Given the description of an element on the screen output the (x, y) to click on. 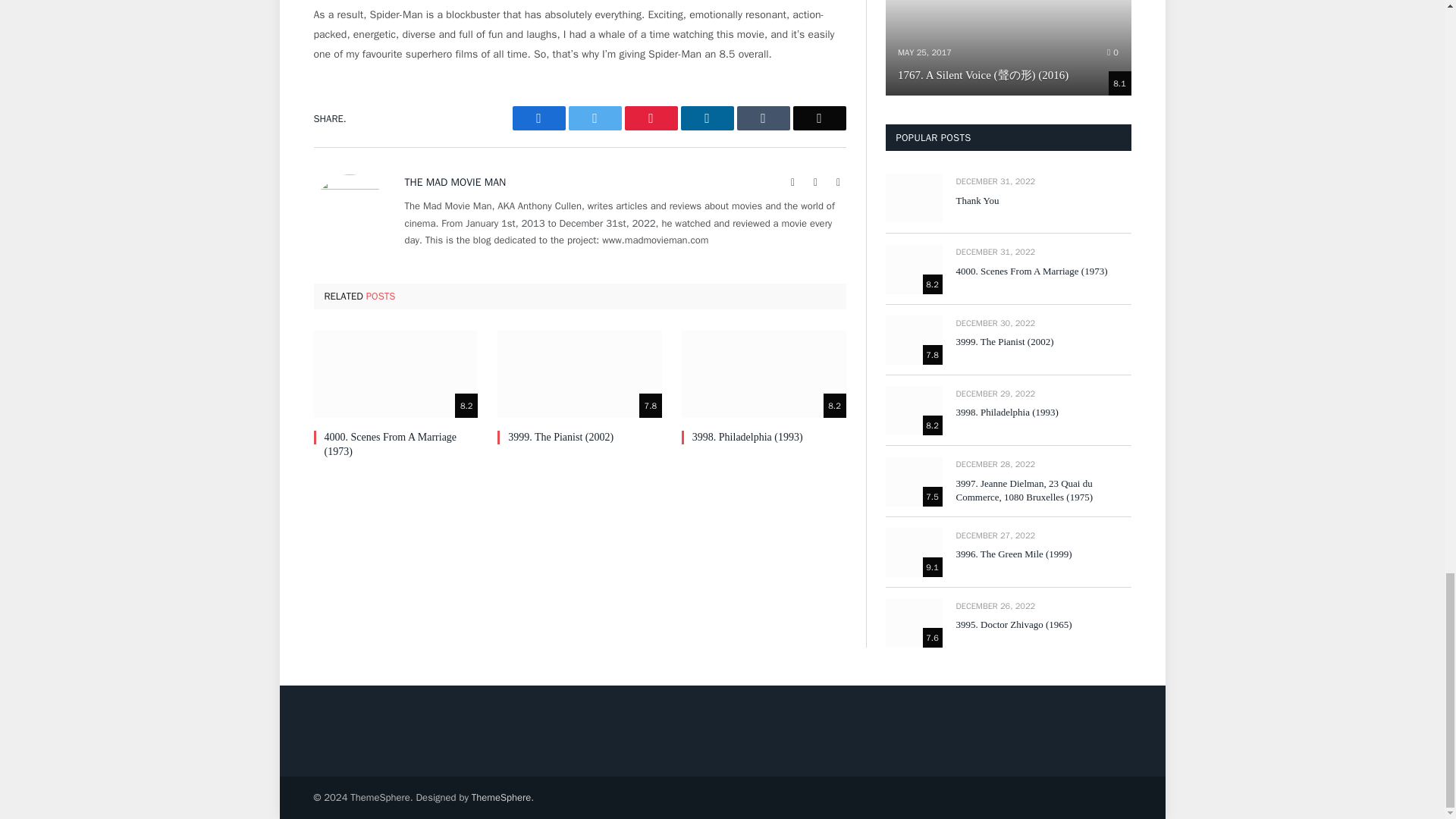
Facebook (816, 182)
Share on Twitter (595, 118)
Website (793, 182)
Share on Pinterest (651, 118)
Posts by The Mad Movie Man (455, 182)
Share via Email (819, 118)
Share on Facebook (539, 118)
Share on LinkedIn (707, 118)
Share on Tumblr (763, 118)
